Given the description of an element on the screen output the (x, y) to click on. 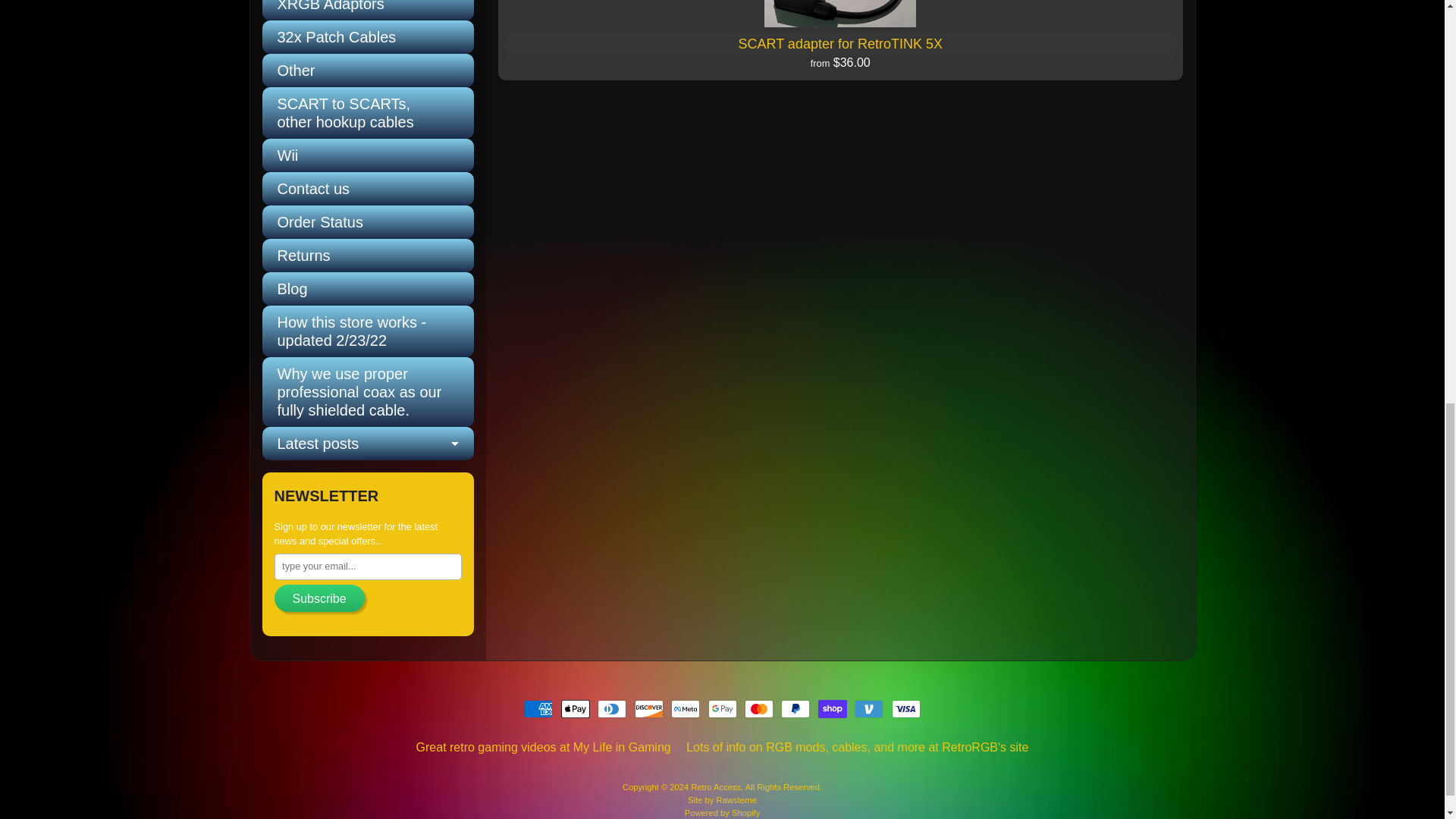
Blog (368, 288)
Other (368, 70)
SCART to SCARTs, other hookup cables (368, 112)
32x Patch Cables (368, 37)
XRGB Adaptors (368, 10)
Wii (368, 154)
Shopify theme by Rawsterne (722, 799)
Returns (368, 255)
Order Status (368, 222)
Contact us (368, 188)
SCART adapter for RetroTINK 5X (839, 40)
